Given the description of an element on the screen output the (x, y) to click on. 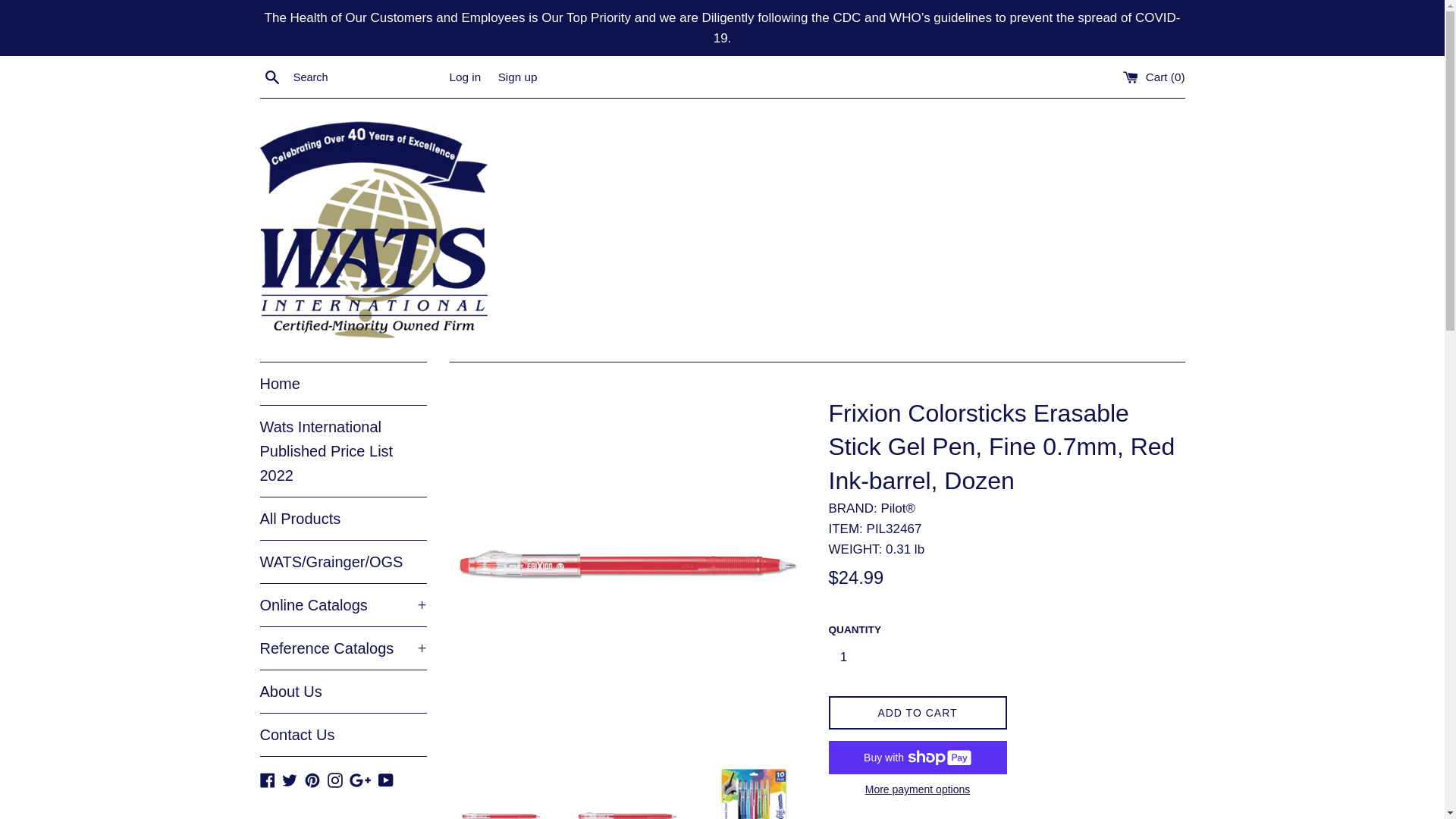
Twitter (289, 779)
Pinterest (312, 779)
YouTube (385, 779)
Google Plus (360, 779)
Search (271, 76)
Sign up (517, 76)
WATS International, Inc. on Twitter (289, 779)
Log in (464, 76)
WATS International, Inc. on Google Plus (360, 779)
WATS International, Inc. on Pinterest (312, 779)
